Given the description of an element on the screen output the (x, y) to click on. 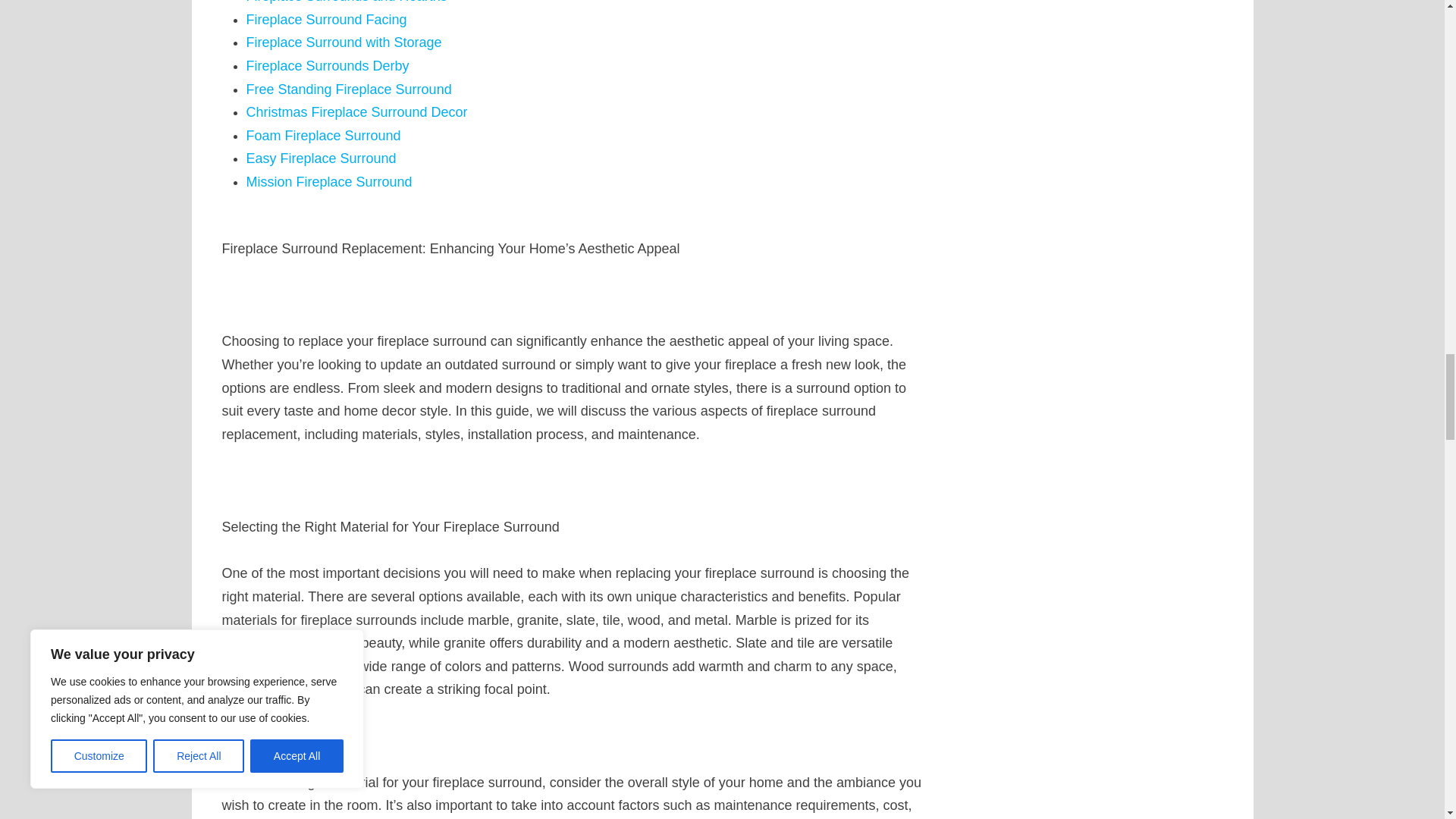
Fireplace Surrounds and Hearths (346, 2)
Fireplace Surround with Storage (343, 42)
Fireplace Surround Facing (326, 19)
Easy Fireplace Surround (321, 158)
Foam Fireplace Surround (323, 135)
Fireplace Surrounds Derby (327, 65)
Mission Fireplace Surround (329, 181)
Free Standing Fireplace Surround (348, 89)
Christmas Fireplace Surround Decor (356, 111)
